Given the description of an element on the screen output the (x, y) to click on. 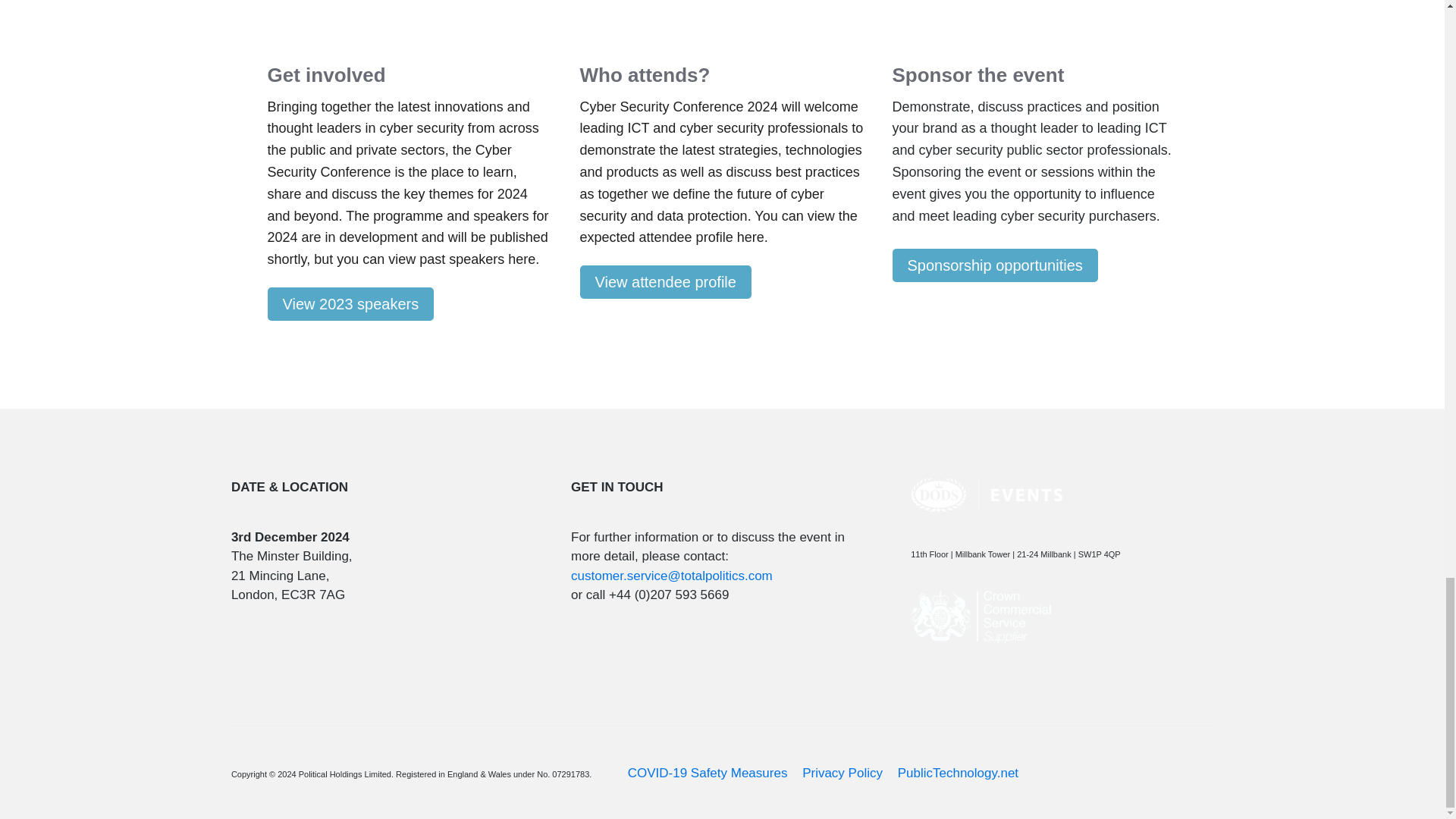
COVID-19 Safety Measures (707, 772)
View 2023 speakers (349, 304)
PublicTechnology.net (957, 772)
Sponsorship opportunities (994, 264)
View attendee profile (665, 281)
Privacy Policy (842, 772)
